Given the description of an element on the screen output the (x, y) to click on. 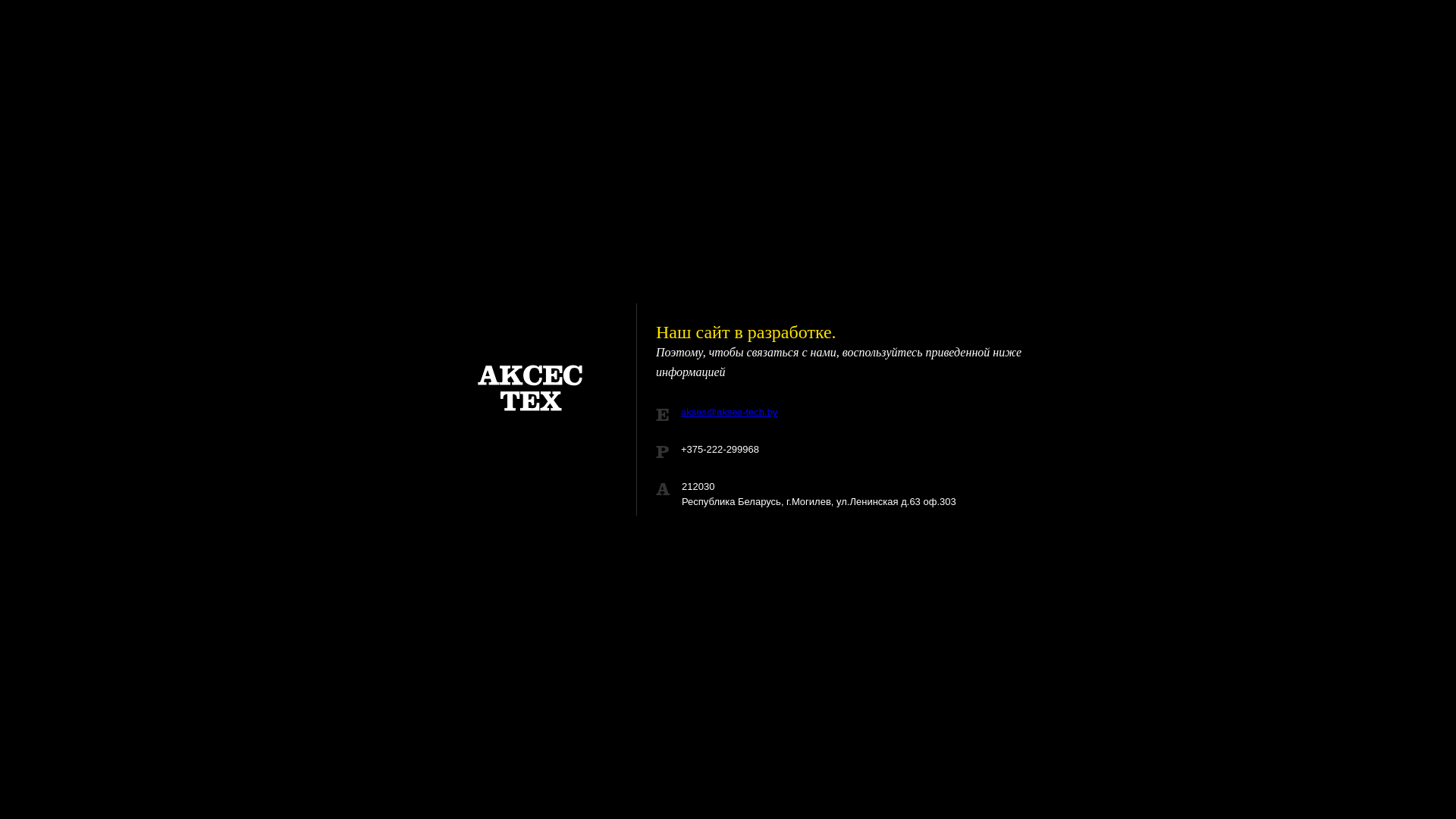
akses@akses-tech.by Element type: text (728, 411)
